Given the description of an element on the screen output the (x, y) to click on. 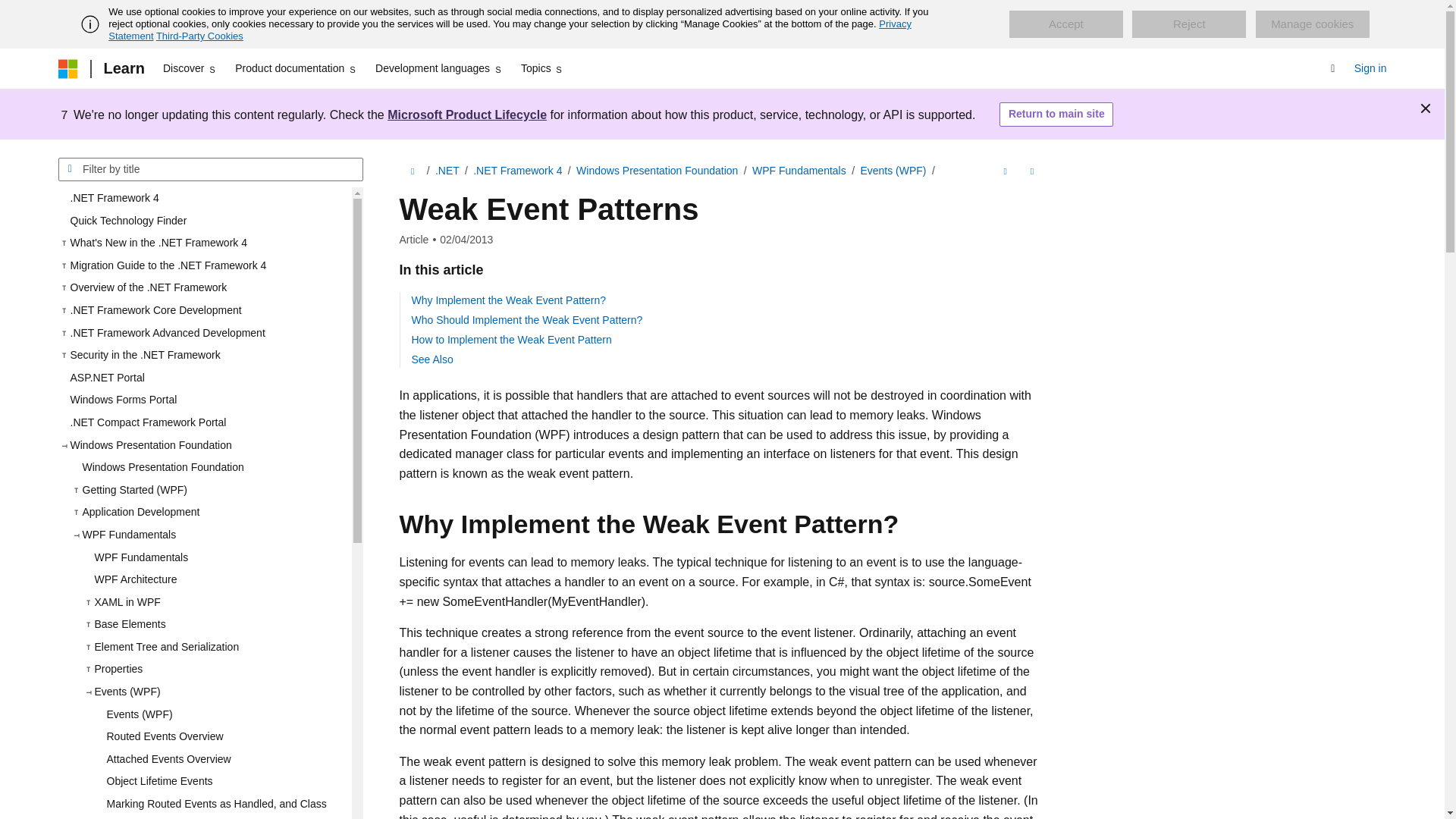
Microsoft Product Lifecycle (467, 114)
Privacy Statement (509, 29)
Manage cookies (1312, 23)
WPF Fundamentals (215, 557)
Dismiss alert (1425, 108)
ASP.NET Portal (204, 377)
Topics (542, 68)
.NET Framework 4 (204, 198)
Accept (1065, 23)
Learn (123, 68)
